Given the description of an element on the screen output the (x, y) to click on. 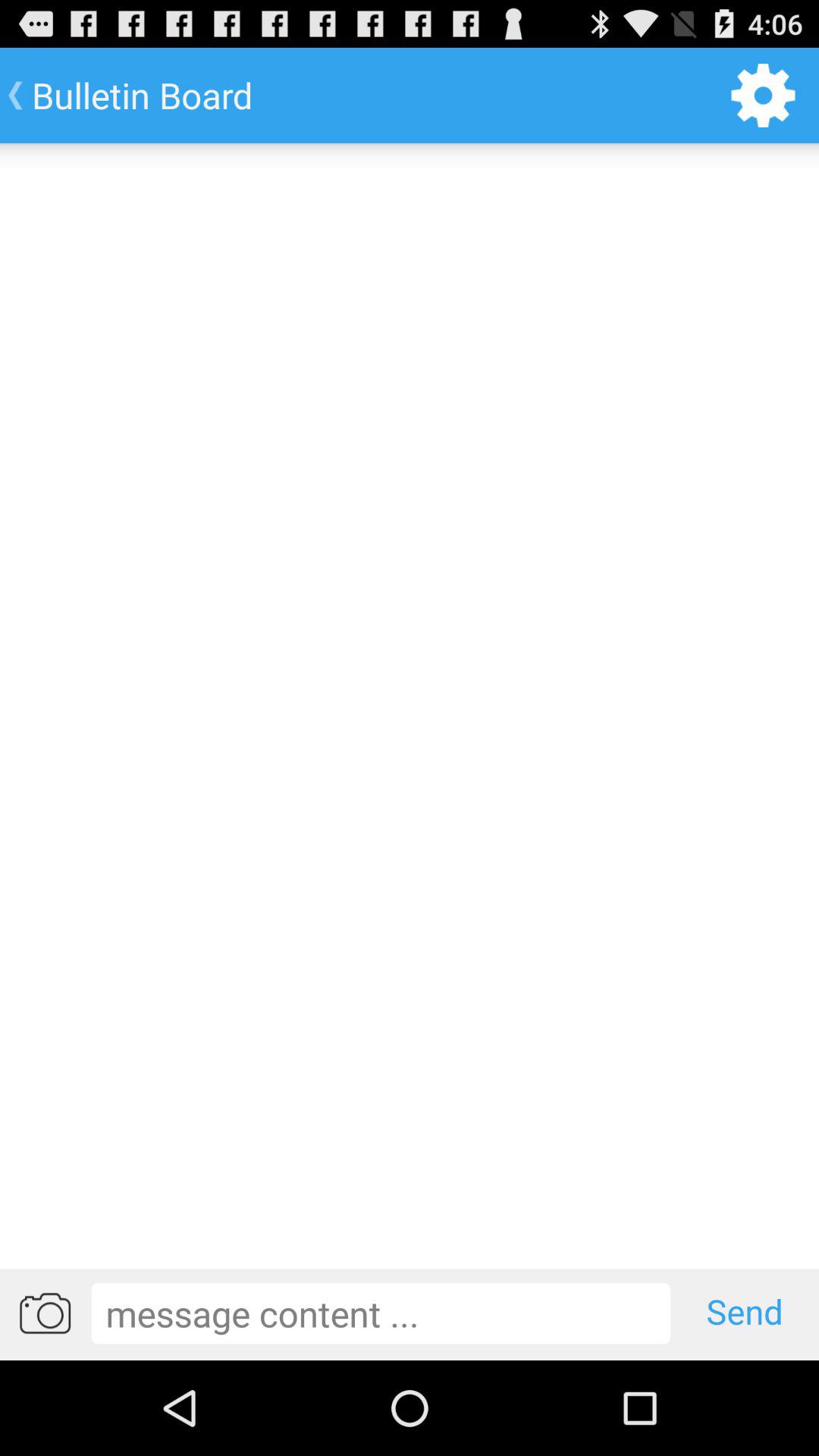
scroll to the send (744, 1312)
